Given the description of an element on the screen output the (x, y) to click on. 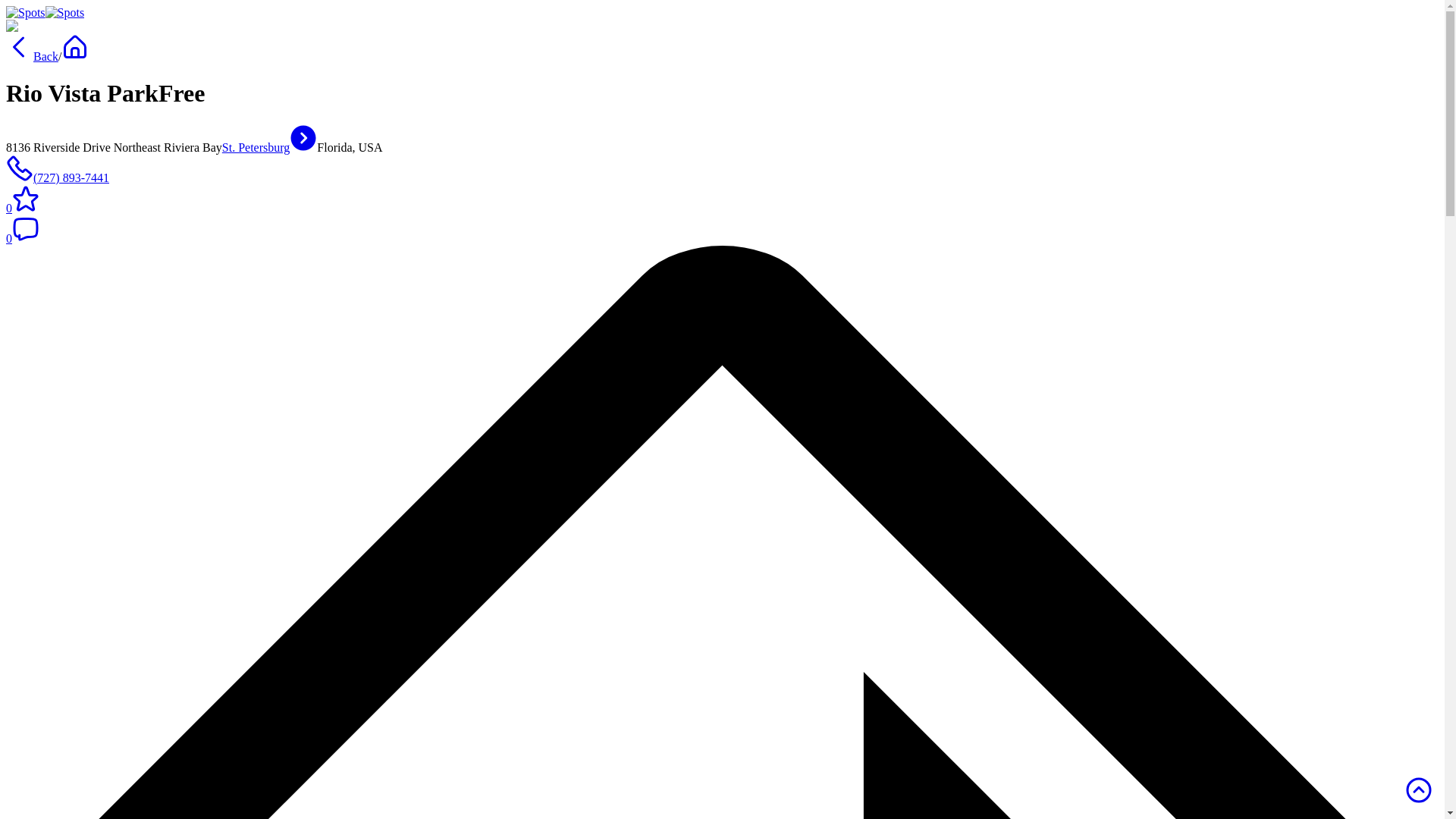
Spots (64, 12)
Spots (25, 12)
Back (31, 56)
Rio Vista Park (46, 26)
St. Petersburg (269, 146)
